Given the description of an element on the screen output the (x, y) to click on. 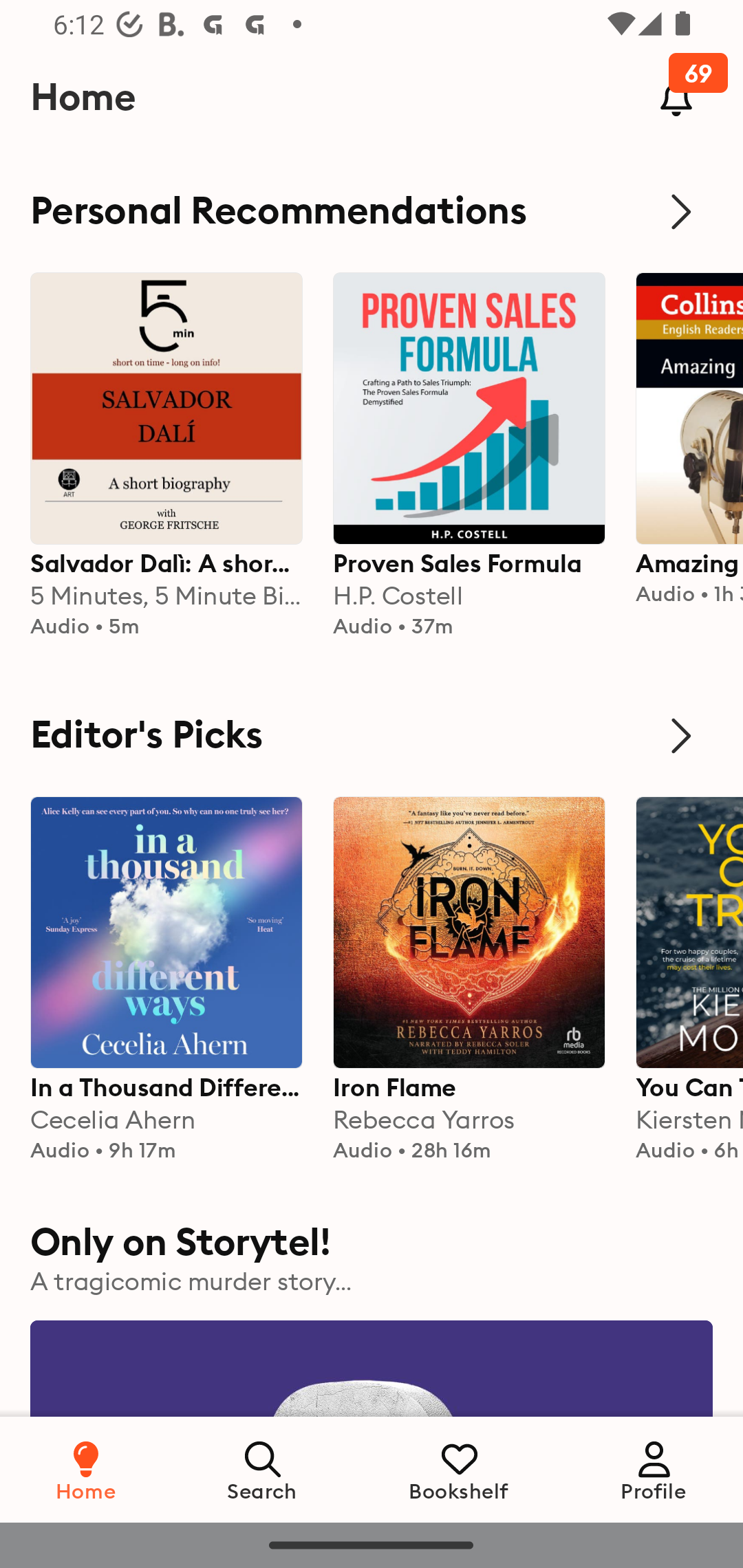
Personal Recommendations (371, 211)
Editor's Picks (371, 735)
Home (85, 1468)
Search (262, 1468)
Bookshelf (458, 1468)
Profile (653, 1468)
